Given the description of an element on the screen output the (x, y) to click on. 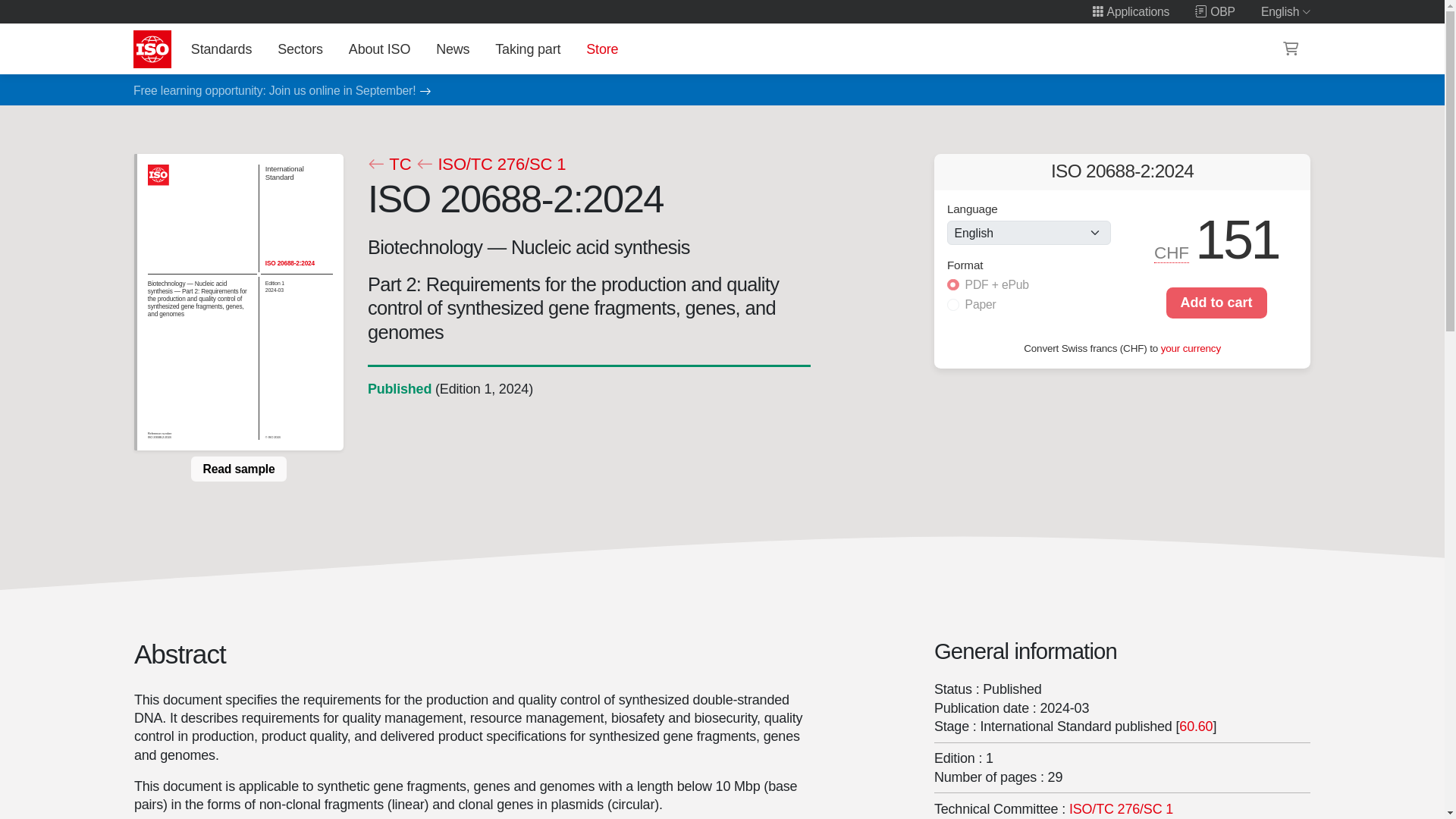
annual-meeting-2024 (273, 90)
Life cycle (398, 388)
Taking part (528, 48)
TC (388, 164)
International Organization for Standardization (152, 48)
Free learning opportunity: Join us online in September! (273, 90)
Swiss francs (1171, 252)
